Given the description of an element on the screen output the (x, y) to click on. 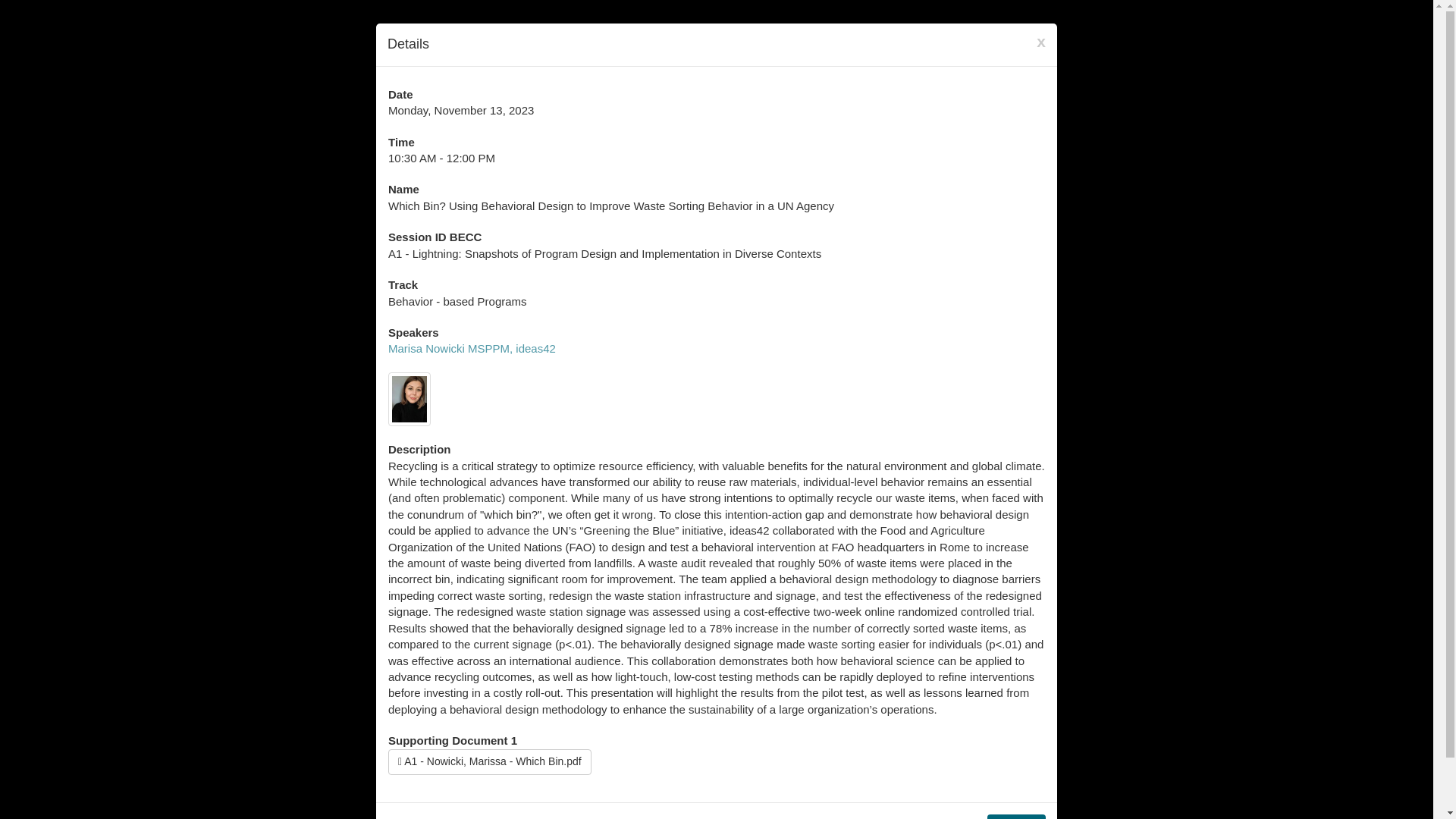
Speaker Details (472, 348)
A1 - Nowicki, Marissa - Which Bin.pdf (489, 761)
Marisa Nowicki MSPPM, ideas42 (472, 348)
Close (1016, 816)
